Given the description of an element on the screen output the (x, y) to click on. 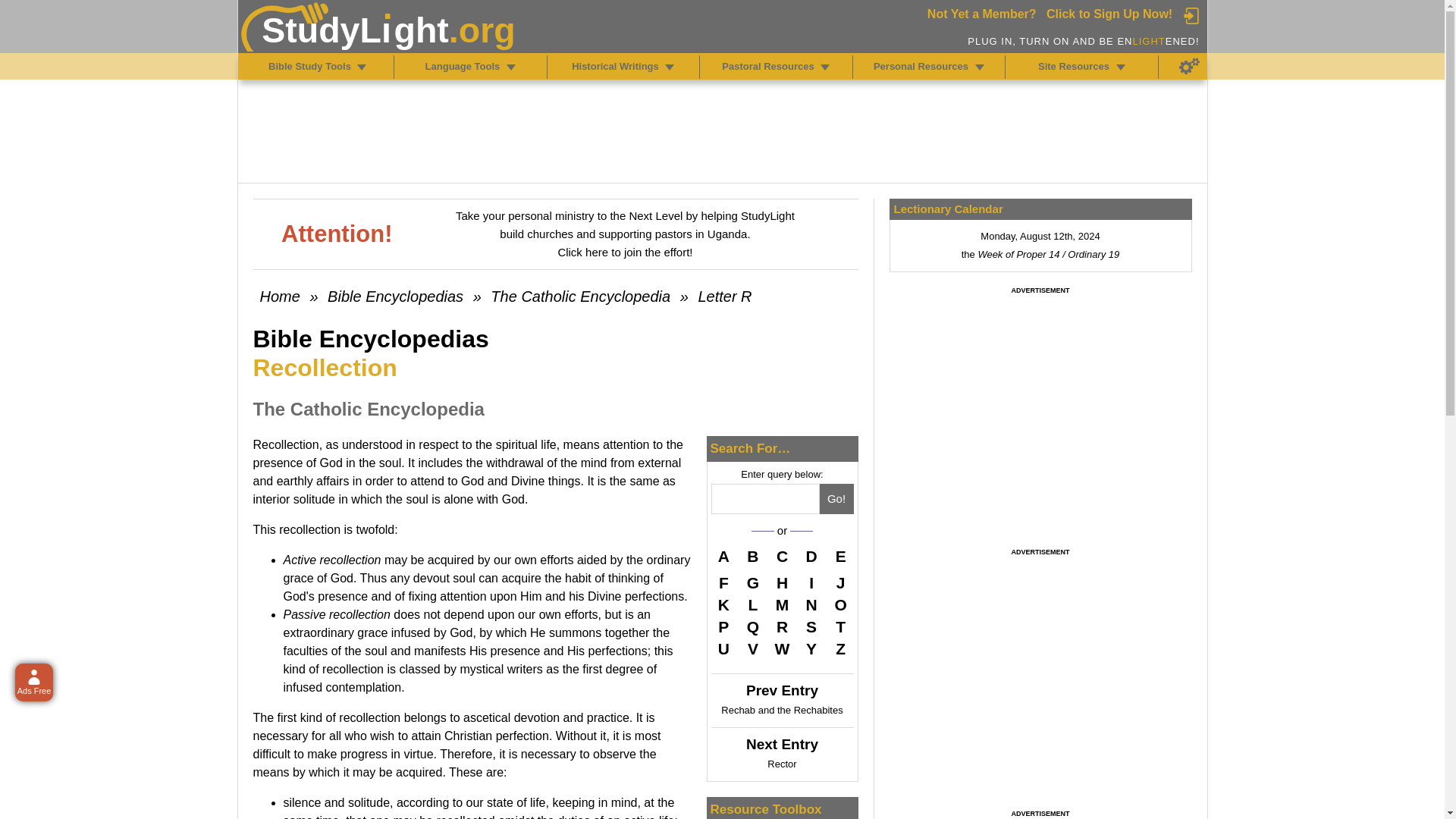
Q (752, 627)
D (810, 558)
J (840, 583)
Historical Writings (669, 67)
The Catholic Encyclopedia (580, 296)
U (723, 648)
K (723, 605)
Pastoral Resources (825, 67)
S (810, 627)
Bible Encyclopedias (395, 296)
